Given the description of an element on the screen output the (x, y) to click on. 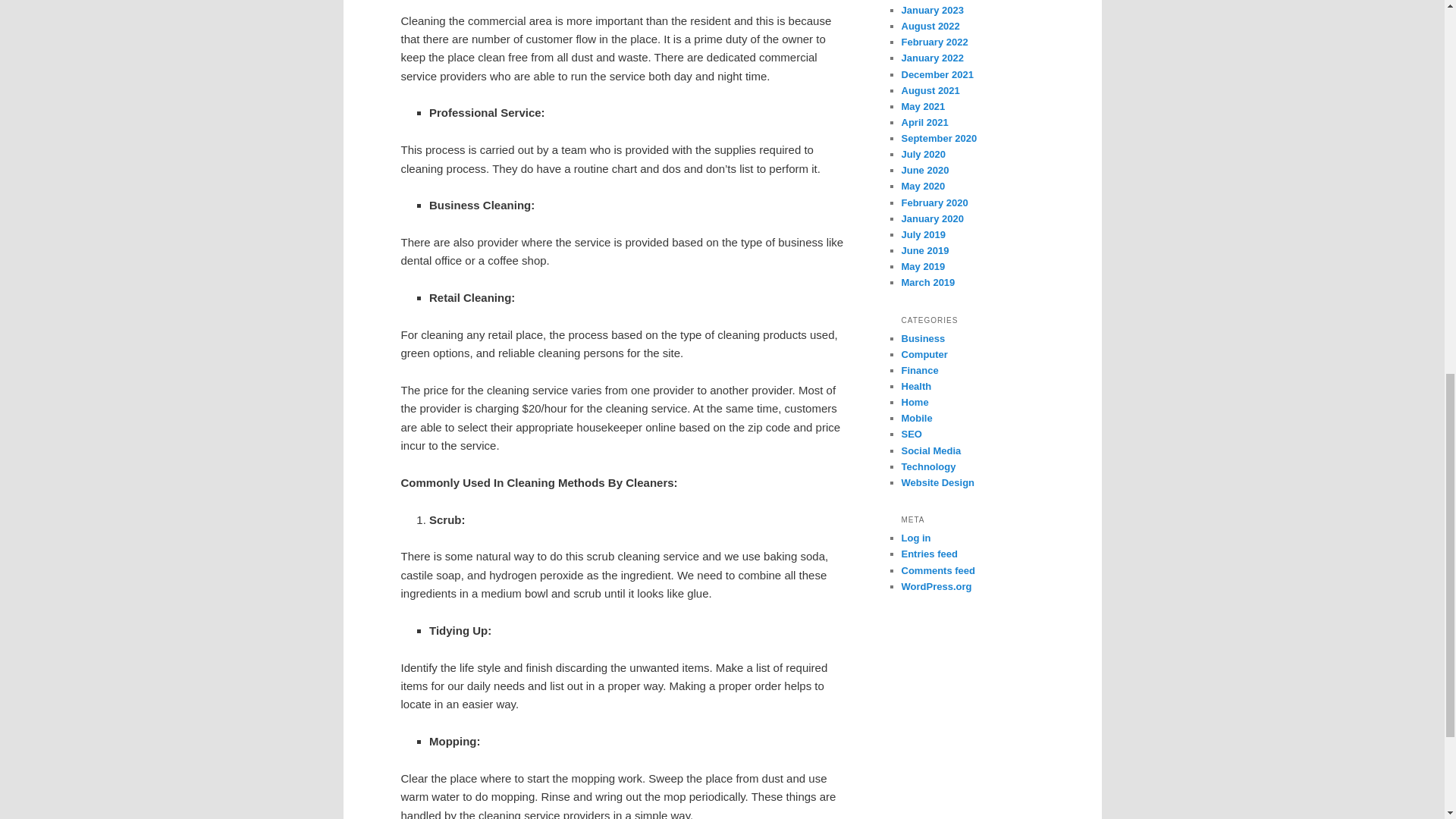
August 2022 (930, 25)
May 2020 (922, 185)
January 2022 (931, 57)
July 2019 (922, 234)
December 2021 (936, 74)
August 2021 (930, 90)
May 2019 (922, 266)
September 2020 (938, 138)
June 2020 (925, 170)
July 2020 (922, 153)
